Given the description of an element on the screen output the (x, y) to click on. 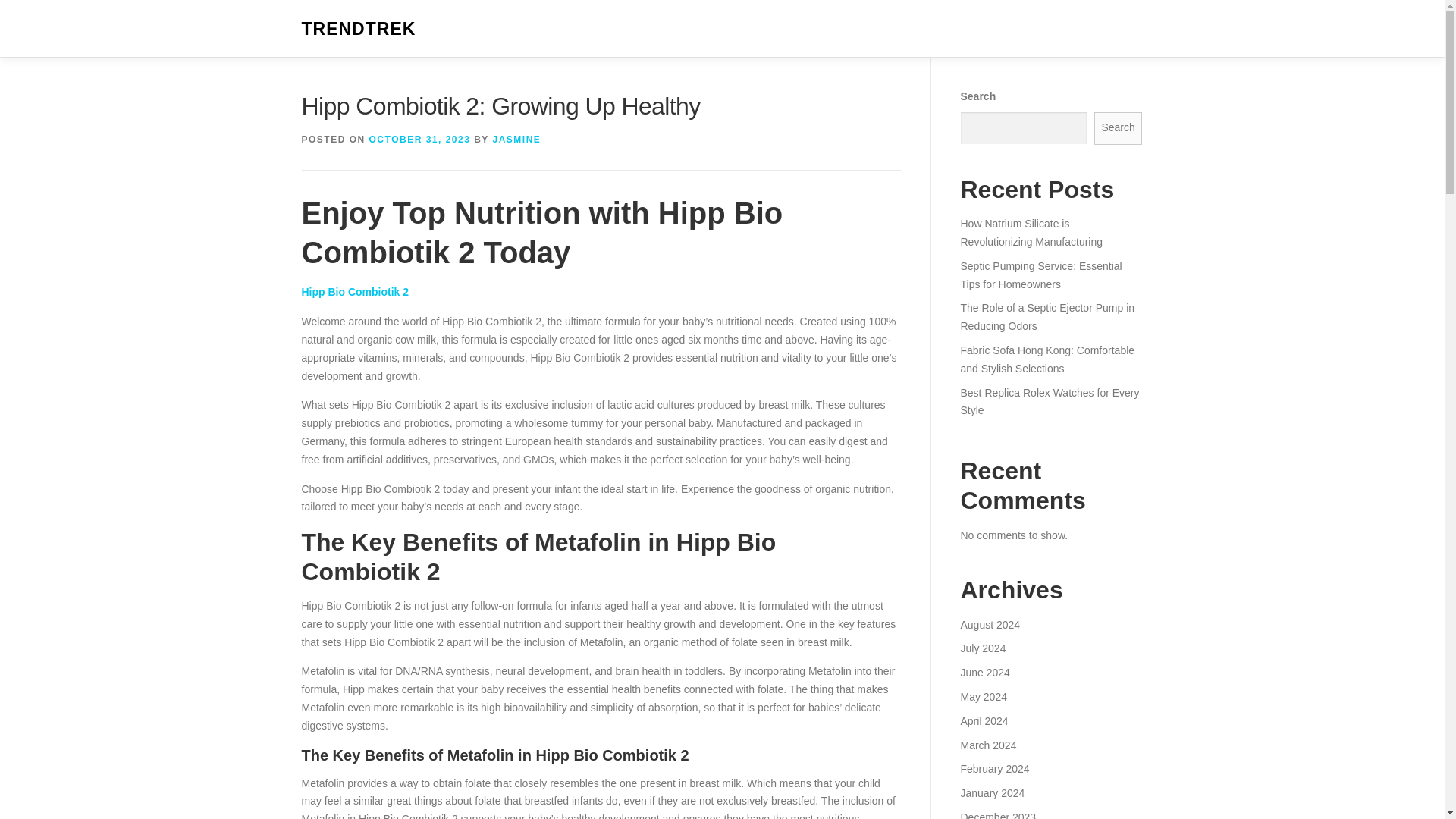
June 2024 (984, 672)
August 2024 (989, 624)
How Natrium Silicate is Revolutionizing Manufacturing (1030, 232)
February 2024 (994, 768)
May 2024 (982, 696)
TRENDTREK (358, 29)
Fabric Sofa Hong Kong: Comfortable and Stylish Selections (1046, 358)
OCTOBER 31, 2023 (419, 139)
March 2024 (987, 744)
January 2024 (992, 793)
